Given the description of an element on the screen output the (x, y) to click on. 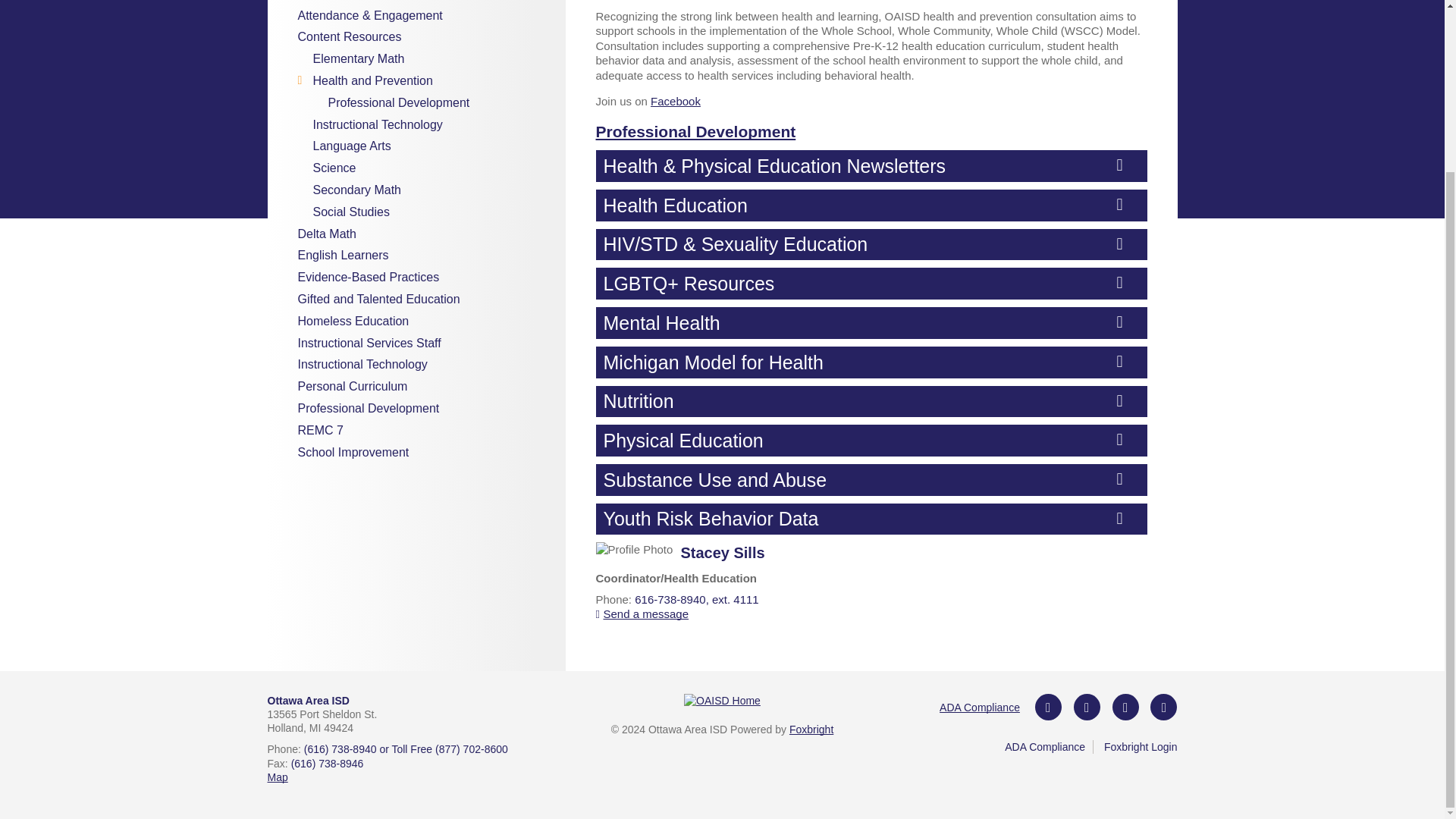
Facebook (1048, 706)
Instagram (1087, 706)
LinkedIn (1163, 706)
Twitter (1125, 706)
